Given the description of an element on the screen output the (x, y) to click on. 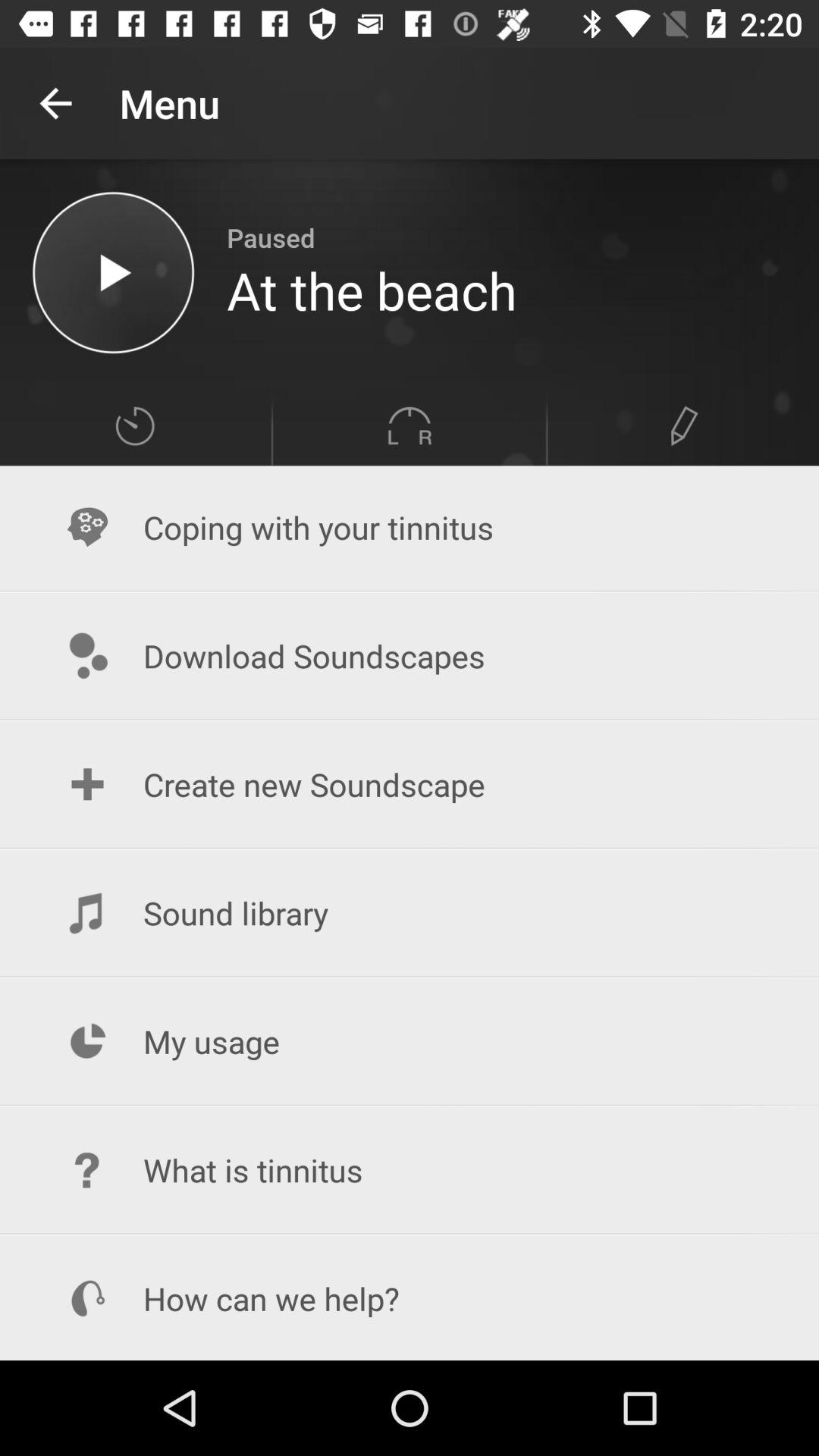
turn off the icon below at the beach item (409, 425)
